Given the description of an element on the screen output the (x, y) to click on. 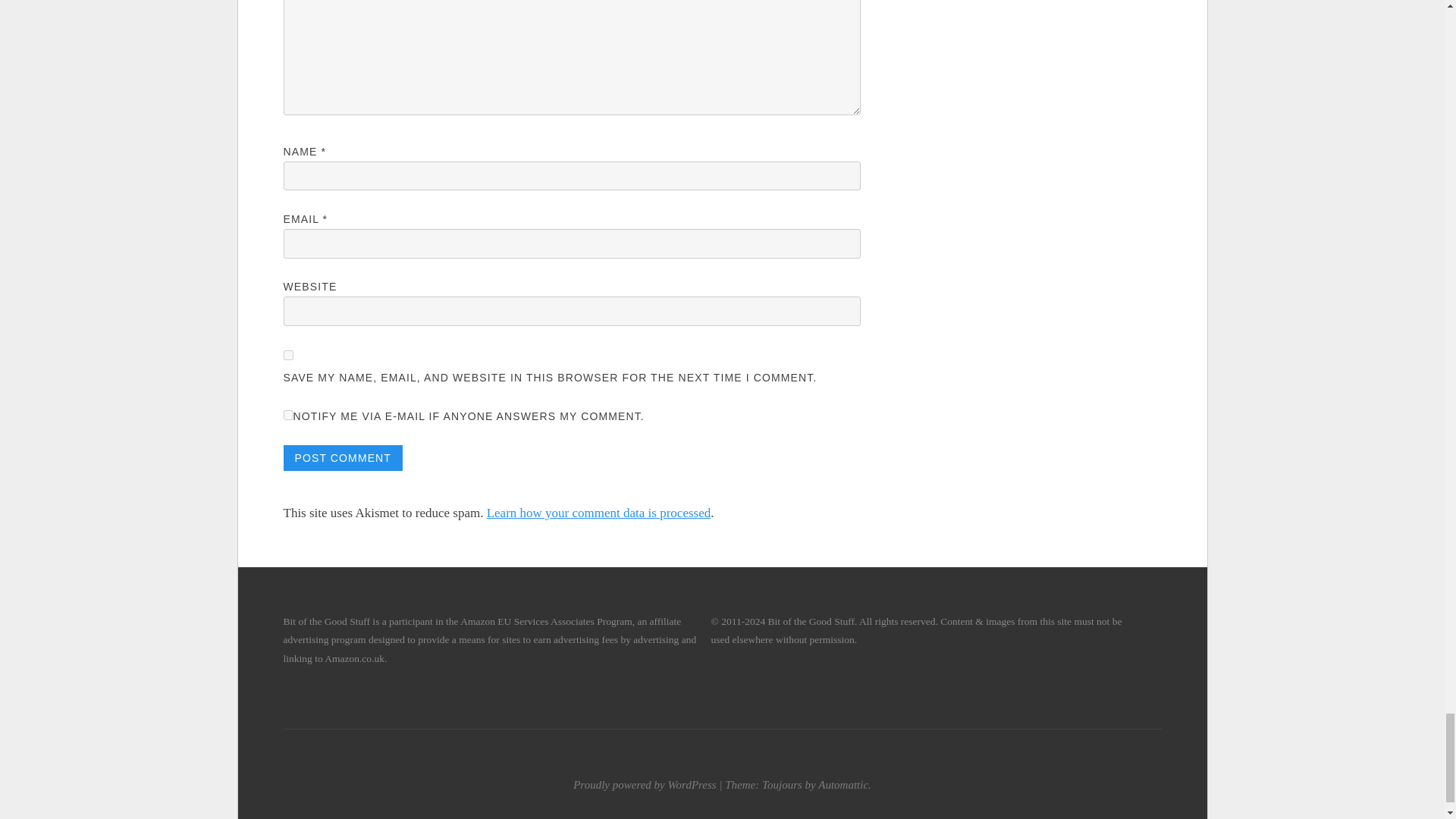
Post Comment (343, 457)
yes (288, 355)
on (288, 415)
